Given the description of an element on the screen output the (x, y) to click on. 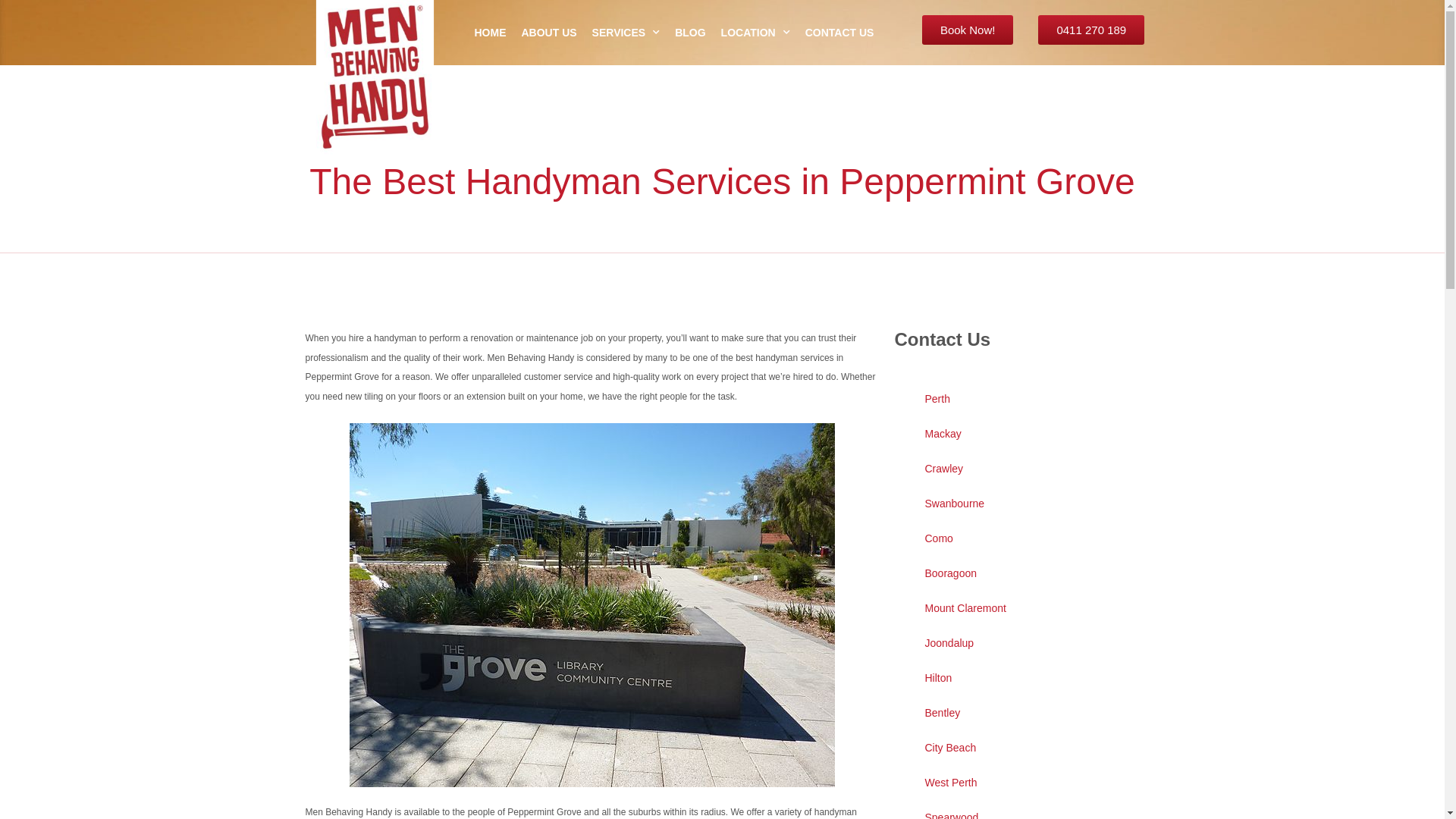
West Perth Element type: text (1017, 782)
Booragoon Element type: text (1017, 572)
Swanbourne Element type: text (1017, 503)
City Beach  Element type: text (1017, 747)
BLOG Element type: text (689, 32)
Book Now! Element type: text (967, 29)
CONTACT US Element type: text (839, 32)
ABOUT US Element type: text (548, 32)
Crawley Element type: text (1017, 468)
Perth Element type: text (1017, 398)
Como Element type: text (1017, 537)
Joondalup Element type: text (1017, 642)
Mackay Element type: text (1017, 433)
Mount Claremont Element type: text (1017, 607)
SERVICES Element type: text (626, 32)
0411 270 189 Element type: text (1091, 29)
HOME Element type: text (489, 32)
Hilton Element type: text (1017, 677)
Bentley Element type: text (1017, 712)
LOCATION Element type: text (755, 32)
